Given the description of an element on the screen output the (x, y) to click on. 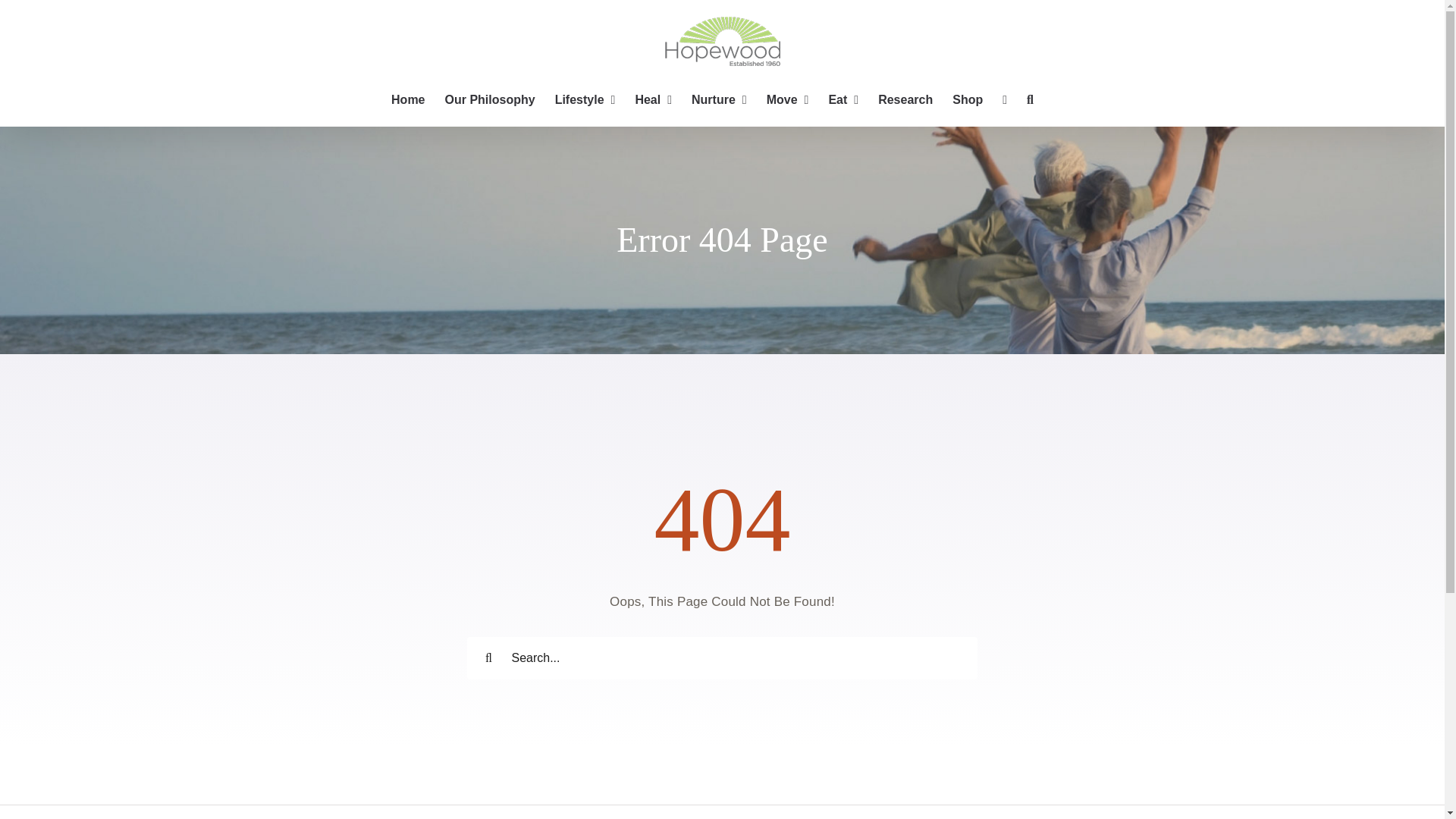
Eat Element type: text (843, 99)
Heal Element type: text (652, 99)
Our Philosophy Element type: text (489, 99)
Research Element type: text (905, 99)
Home Element type: text (407, 99)
Nurture Element type: text (718, 99)
Shop Element type: text (967, 99)
Lifestyle Element type: text (585, 99)
Search Element type: hover (1029, 99)
Move Element type: text (787, 99)
